Given the description of an element on the screen output the (x, y) to click on. 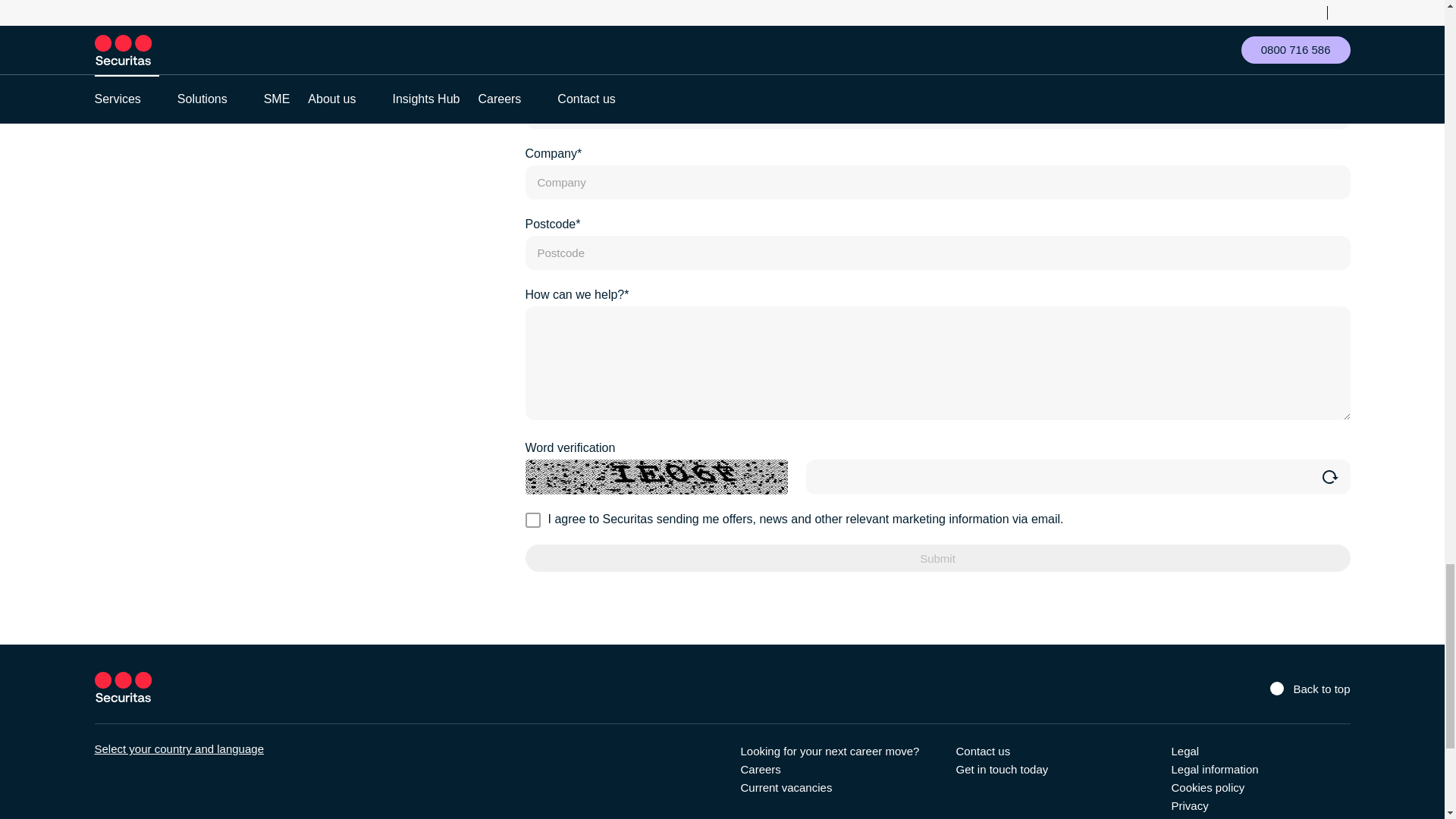
Careers (759, 768)
Last name (936, 41)
Click here to send (936, 557)
Legal information (1213, 768)
Modern Slavery Act (1219, 818)
Postcode (936, 252)
What services are you interested in? (936, 363)
Get in touch today (1001, 768)
Privacy (1189, 805)
Select your country and language (178, 748)
Company (936, 182)
Current vacancies (785, 787)
